Given the description of an element on the screen output the (x, y) to click on. 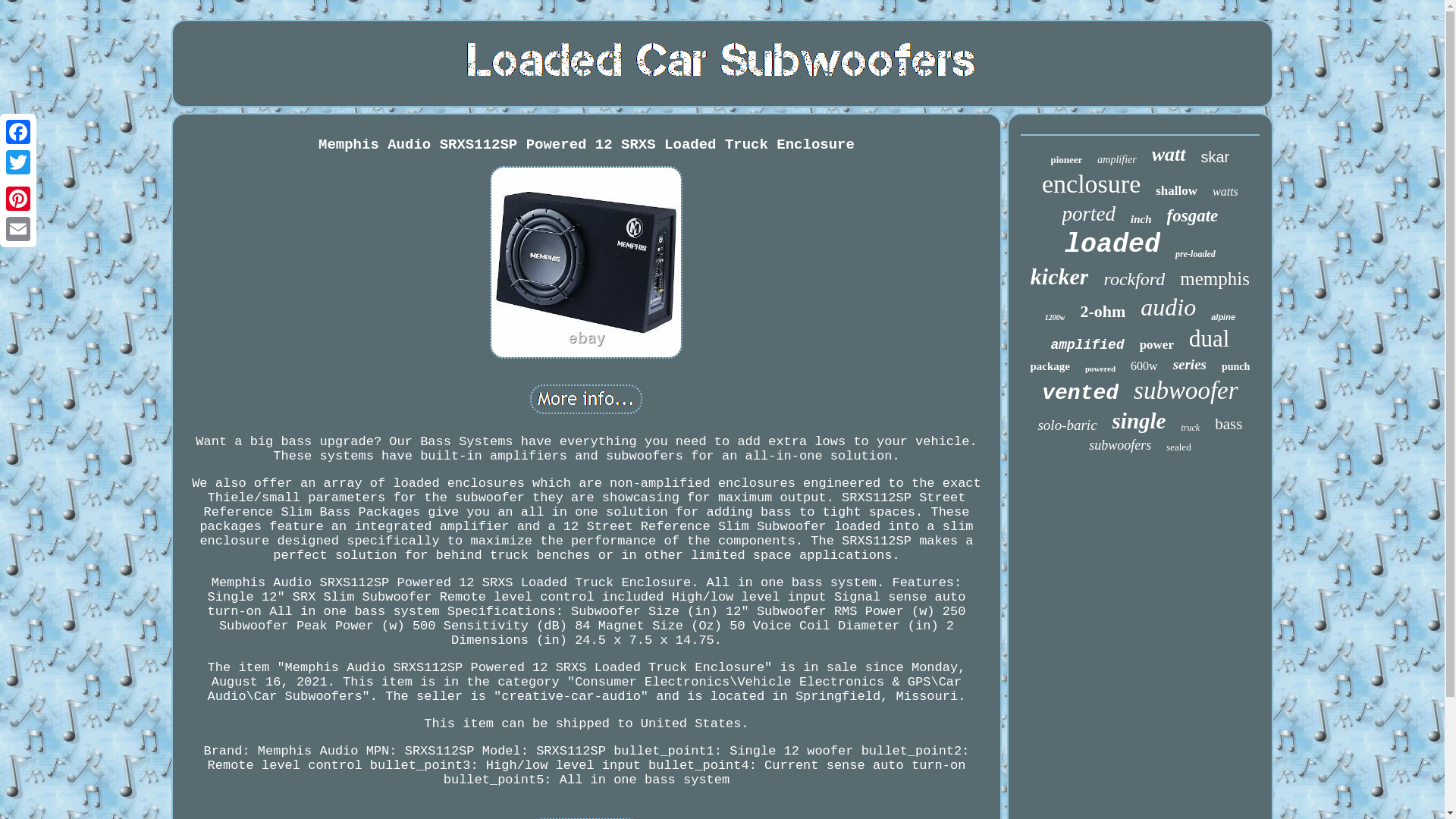
amplified (1086, 344)
memphis (1214, 278)
shallow (1176, 191)
Facebook (17, 132)
enclosure (1091, 184)
rockford (1133, 279)
power (1156, 344)
series (1190, 364)
2-ohm (1102, 311)
skar (1215, 157)
